Given the description of an element on the screen output the (x, y) to click on. 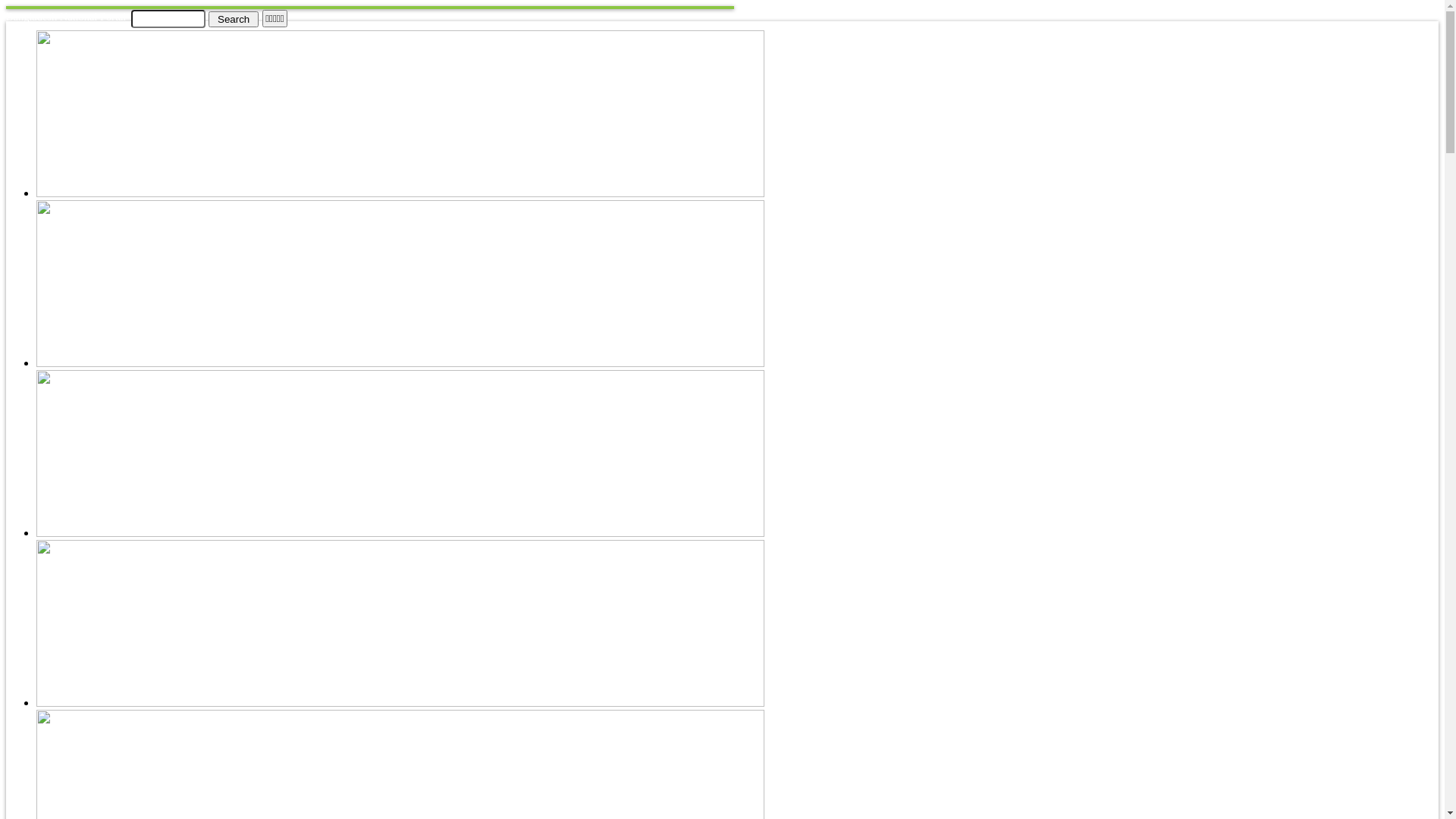
Bangladesh National Portal Element type: text (65, 16)
Search Element type: text (233, 18)
